Given the description of an element on the screen output the (x, y) to click on. 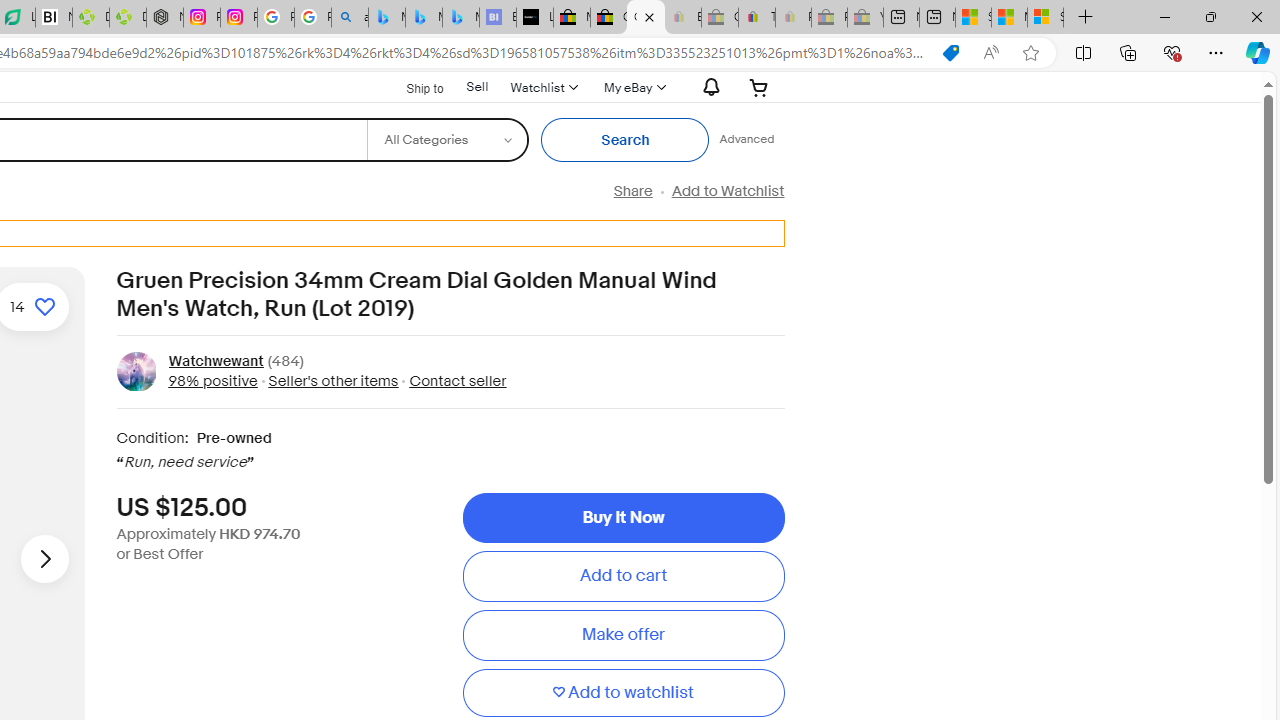
(484) (285, 361)
Advanced Search (746, 139)
98% positive (212, 380)
Next image - Item images thumbnails (44, 558)
alabama high school quarterback dies - Search (349, 17)
AutomationID: gh-eb-Alerts (708, 87)
  Contact seller (452, 380)
Sign in to your Microsoft account (1045, 17)
